Given the description of an element on the screen output the (x, y) to click on. 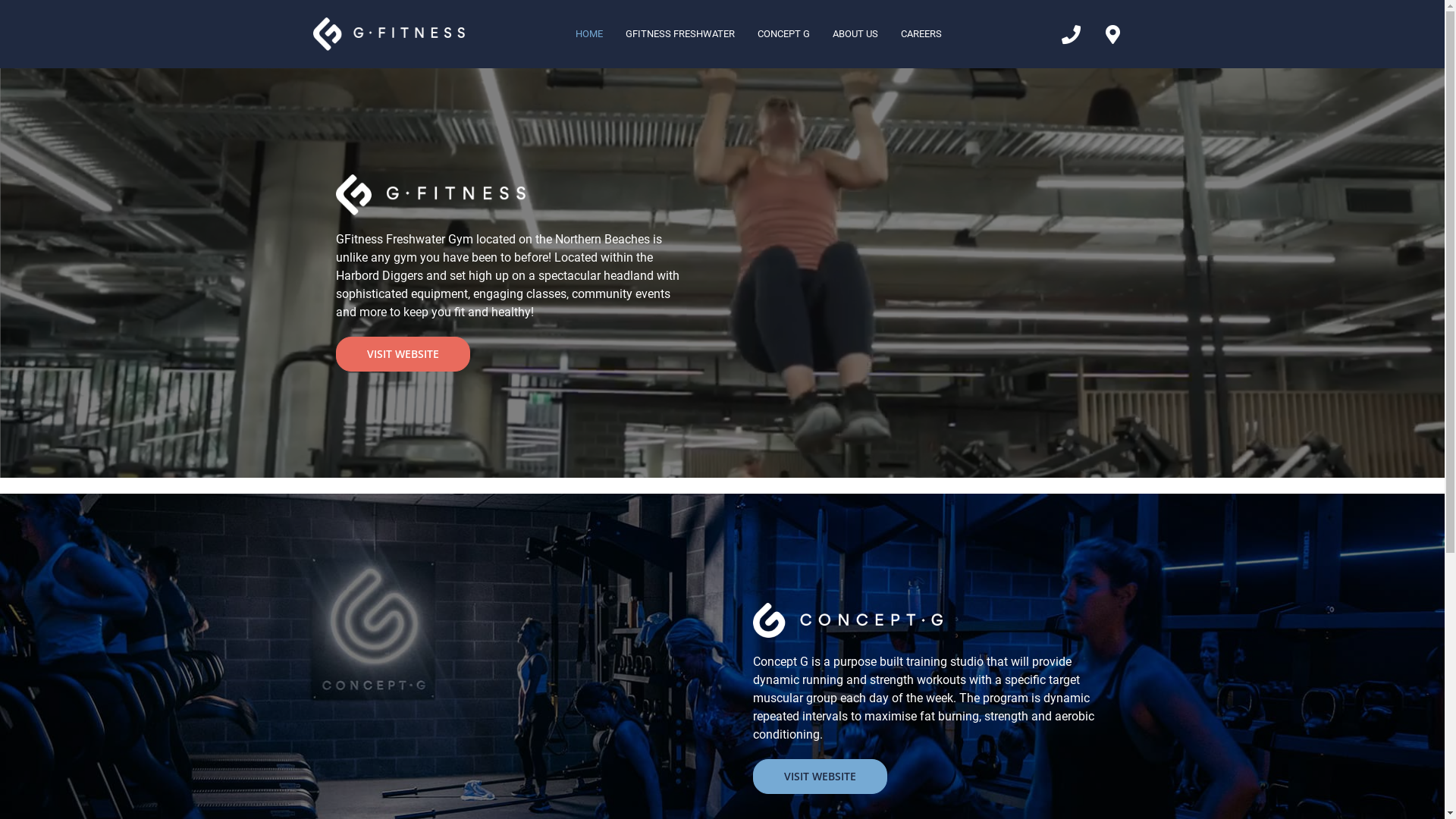
VISIT WEBSITE Element type: text (819, 776)
GFITNESS FRESHWATER Element type: text (680, 33)
CAREERS Element type: text (920, 33)
ABOUT US Element type: text (854, 33)
Group 3016 Element type: hover (388, 33)
VISIT WEBSITE Element type: text (402, 353)
CONCEPT G Element type: text (783, 33)
HOME Element type: text (589, 33)
